Given the description of an element on the screen output the (x, y) to click on. 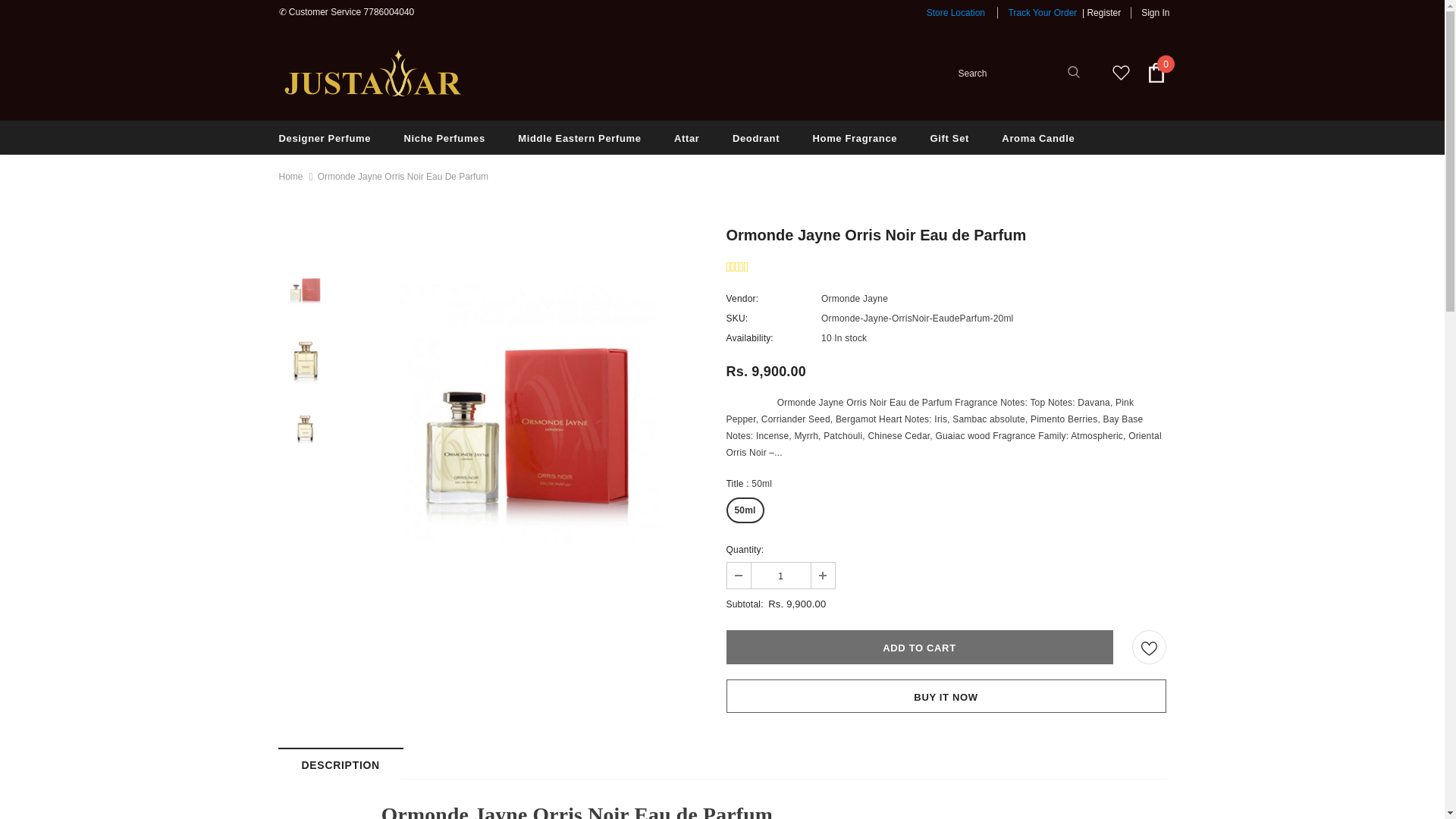
Aroma Candle (1037, 137)
Middle Eastern Perfume (579, 137)
Niche Perfumes (444, 137)
0 (1156, 72)
Home Fragrance (855, 137)
Register (1103, 12)
Home (290, 176)
Designer Perfume (325, 137)
Sign In (1150, 12)
Deodrant (755, 137)
Store Location (955, 12)
Logo (373, 72)
1 (780, 575)
Track Your Order (1042, 12)
Add to cart (919, 646)
